Given the description of an element on the screen output the (x, y) to click on. 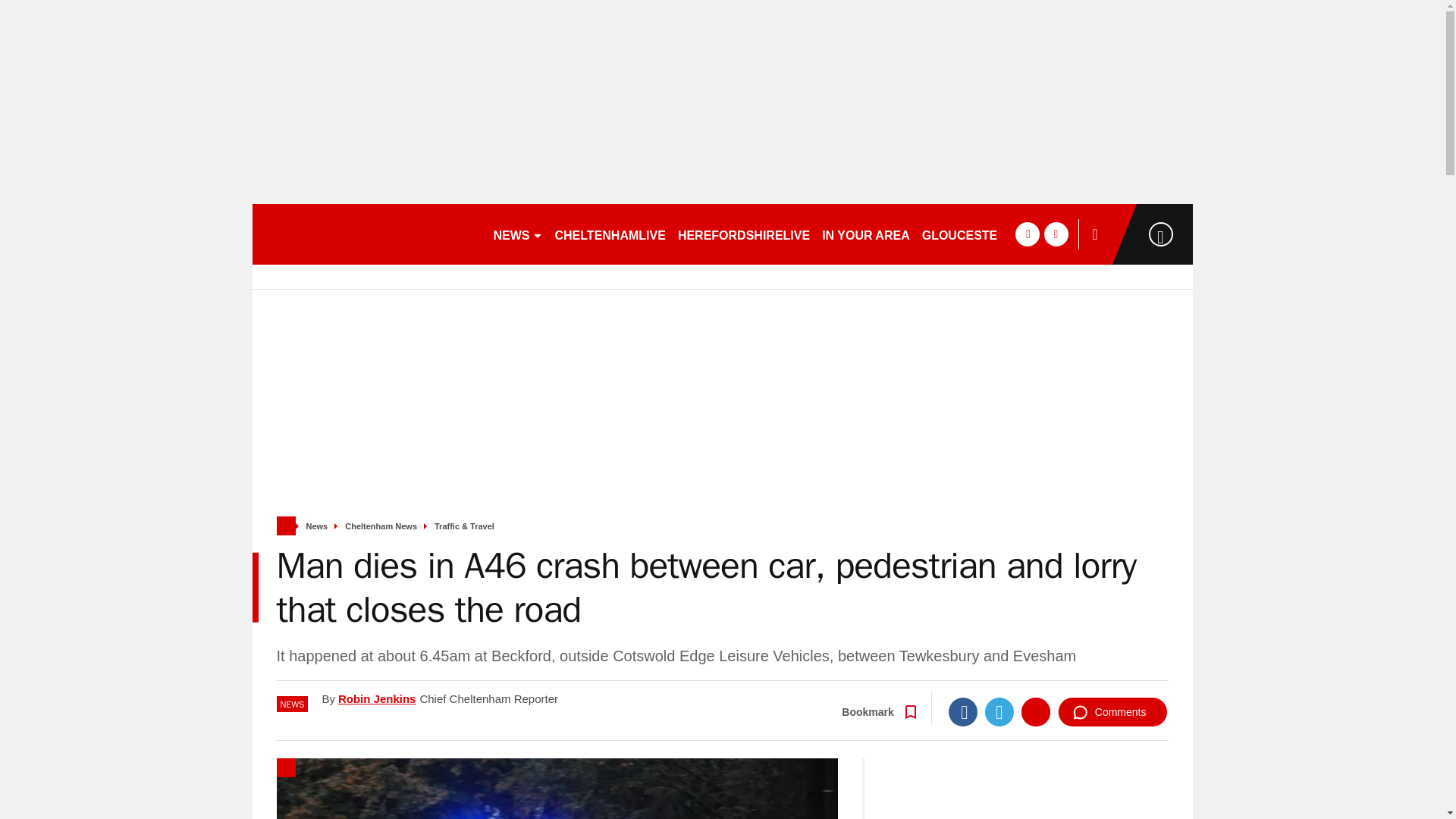
facebook (1026, 233)
IN YOUR AREA (865, 233)
NEWS (517, 233)
HEREFORDSHIRELIVE (743, 233)
Twitter (999, 711)
Facebook (962, 711)
GLOUCESTER NEWS (983, 233)
twitter (1055, 233)
gloucestershirelive (365, 233)
CHELTENHAMLIVE (609, 233)
